Given the description of an element on the screen output the (x, y) to click on. 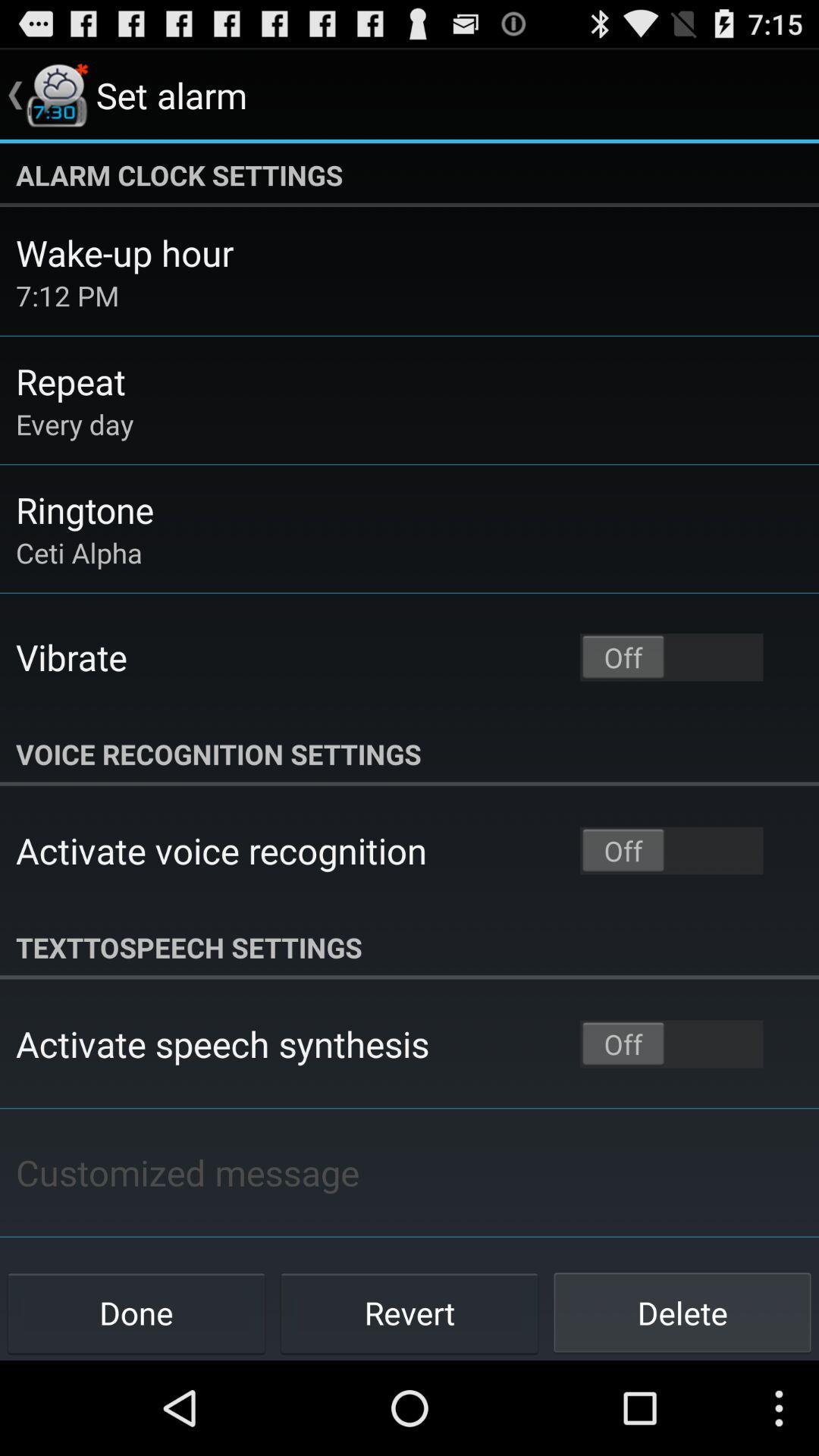
flip until the alarm clock settings icon (409, 175)
